Given the description of an element on the screen output the (x, y) to click on. 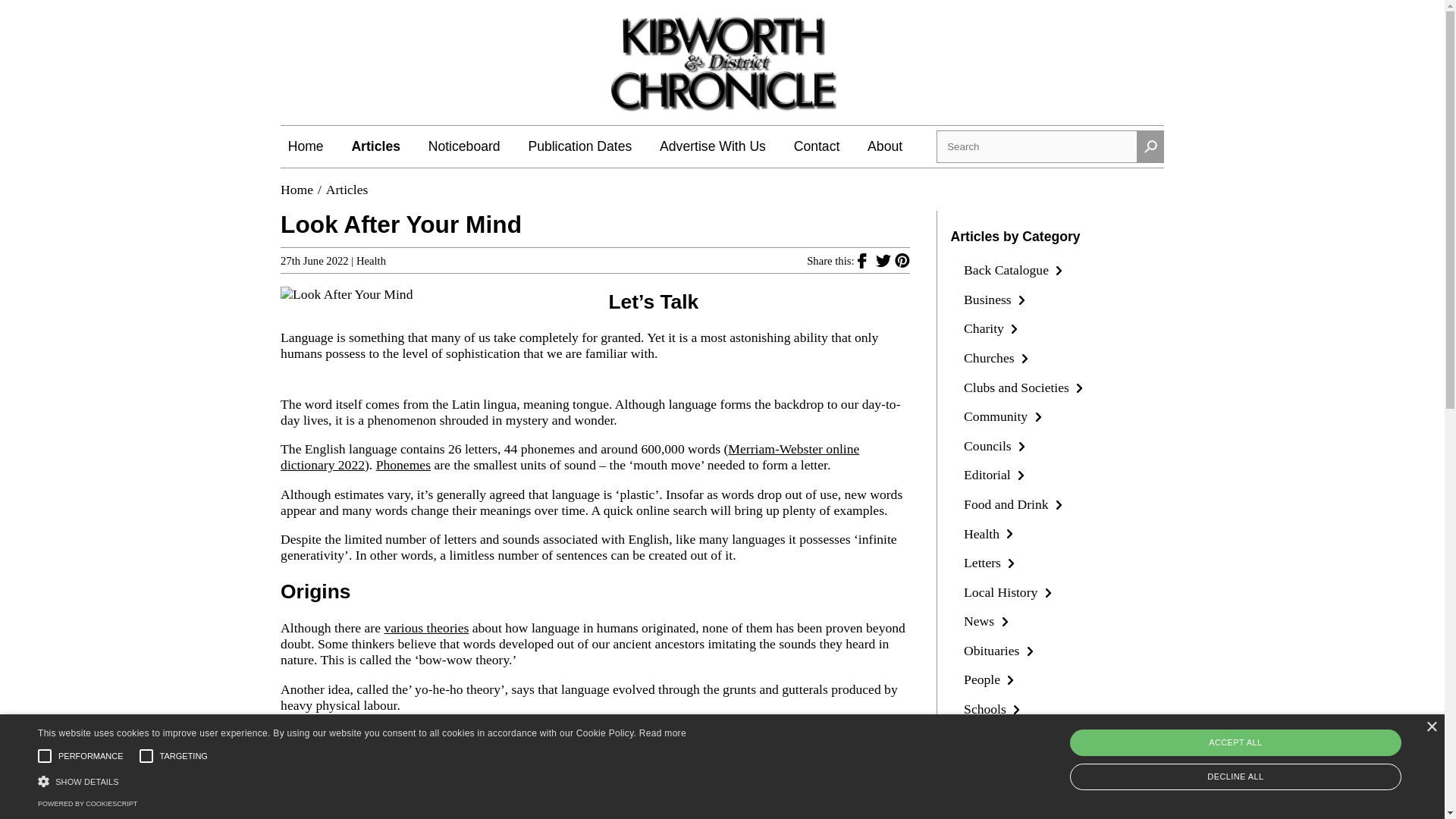
Merriam-Webster online dictionary 2022 (570, 456)
Consent Management Platform (86, 803)
Clubs and Societies (1025, 387)
Share to Pinterest (902, 259)
Editorial (996, 474)
Business (996, 299)
Publication Dates (579, 145)
News (987, 620)
Councils (996, 445)
Community (1004, 416)
Health (370, 260)
Home (305, 145)
various theories (426, 627)
Food and Drink (1015, 503)
Churches (997, 357)
